Given the description of an element on the screen output the (x, y) to click on. 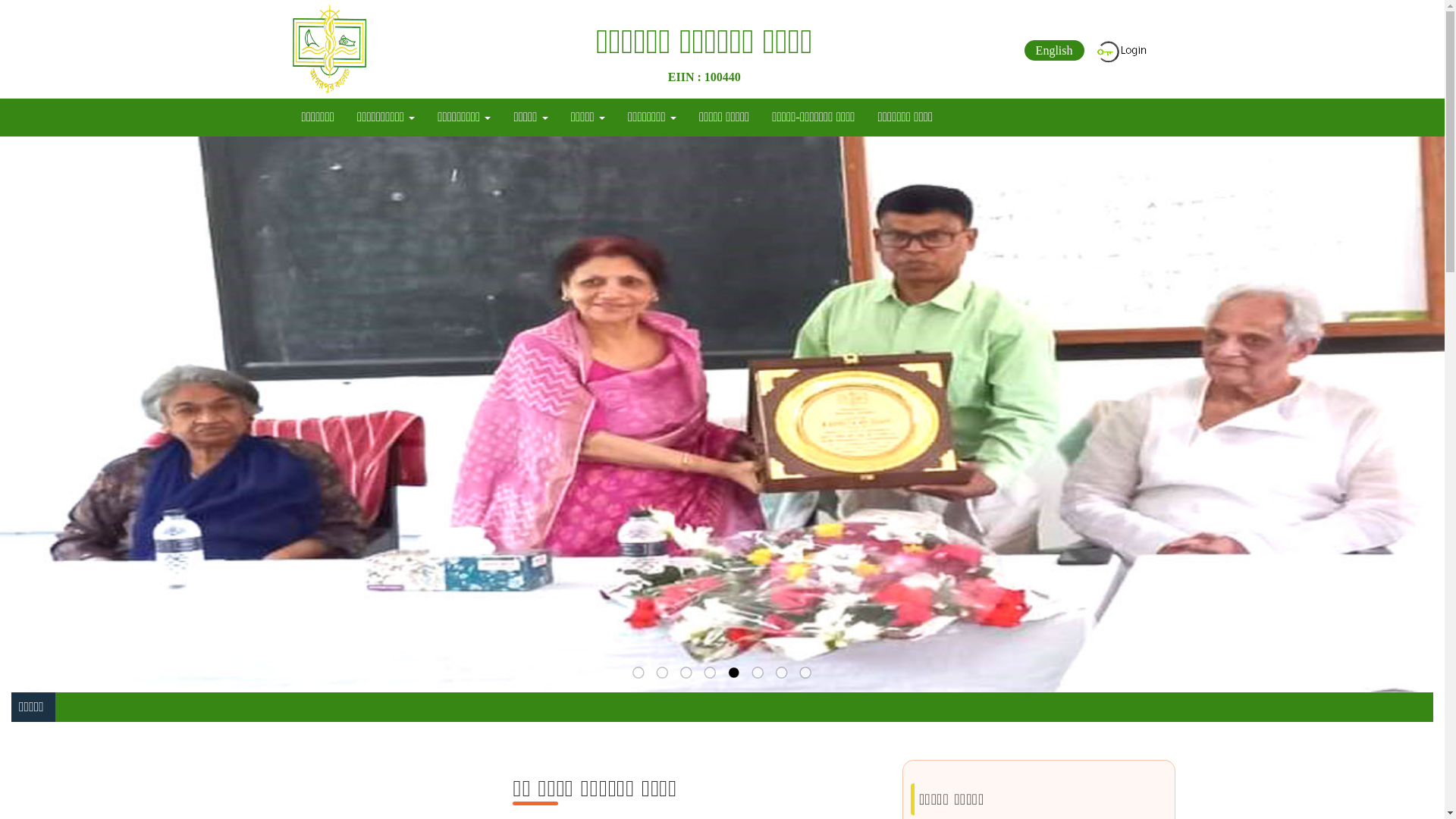
English Element type: text (1054, 50)
